Given the description of an element on the screen output the (x, y) to click on. 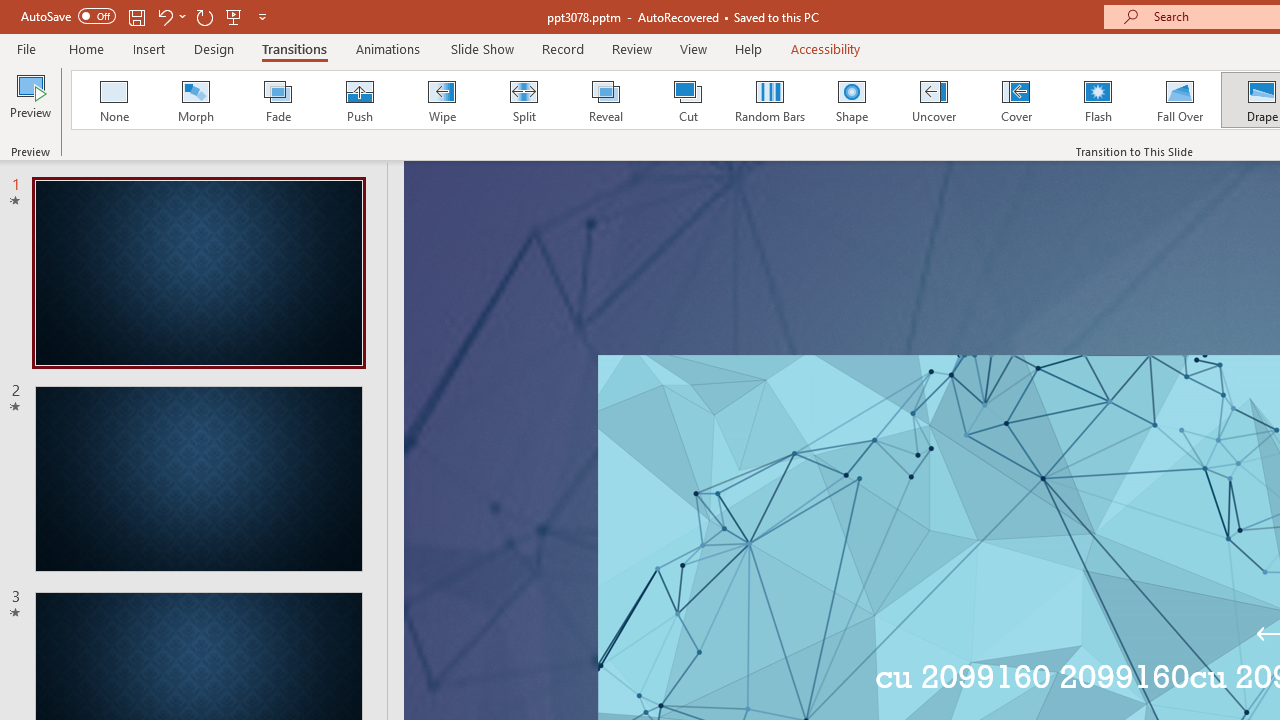
Cover (1016, 100)
Reveal (605, 100)
Fall Over (1180, 100)
